Given the description of an element on the screen output the (x, y) to click on. 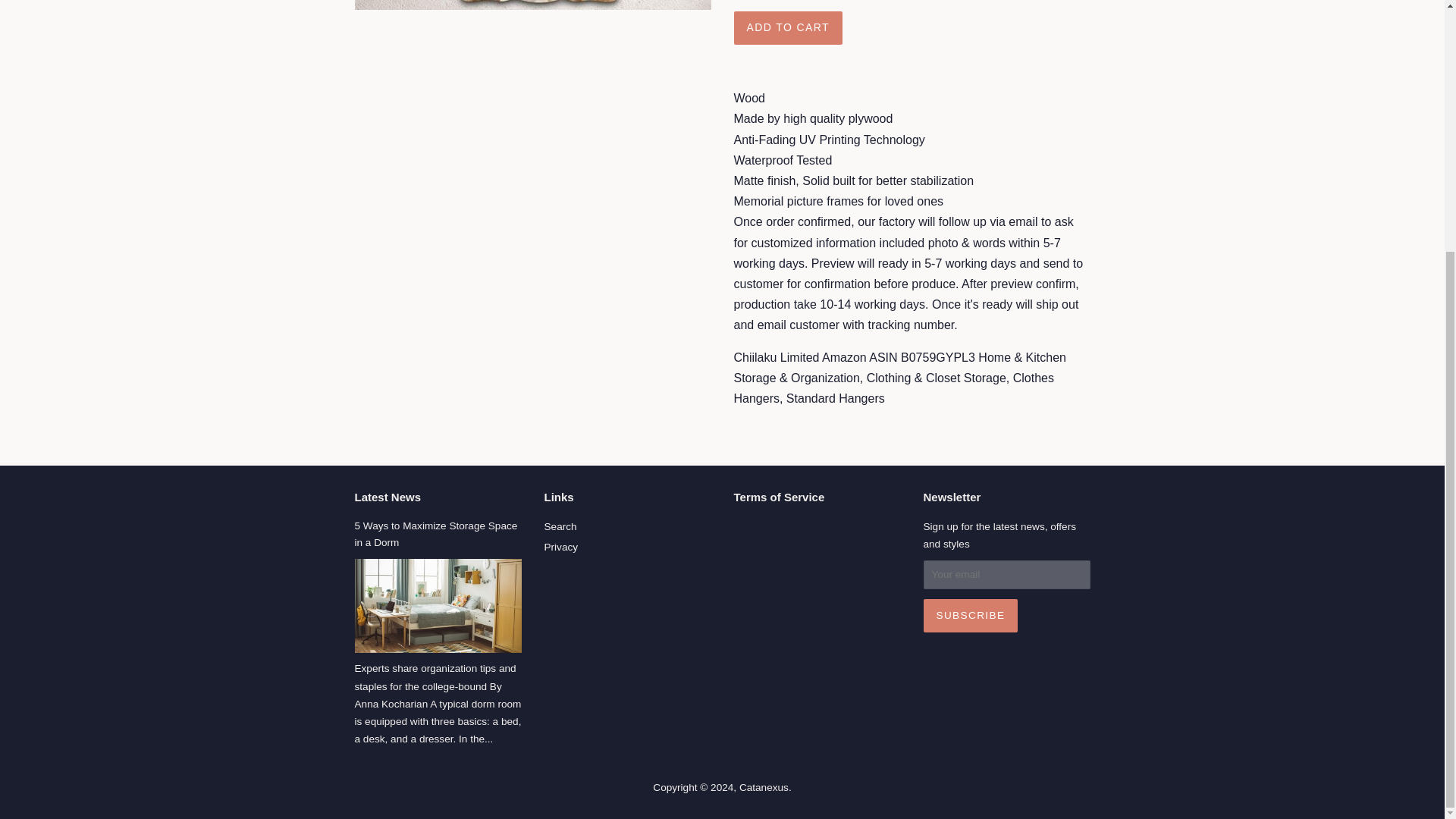
Search (560, 526)
Subscribe (970, 615)
Latest News (388, 496)
Subscribe (970, 615)
Catanexus (764, 787)
5 Ways to Maximize Storage Space in a Dorm (436, 533)
Privacy (561, 546)
ADD TO CART (788, 28)
